Given the description of an element on the screen output the (x, y) to click on. 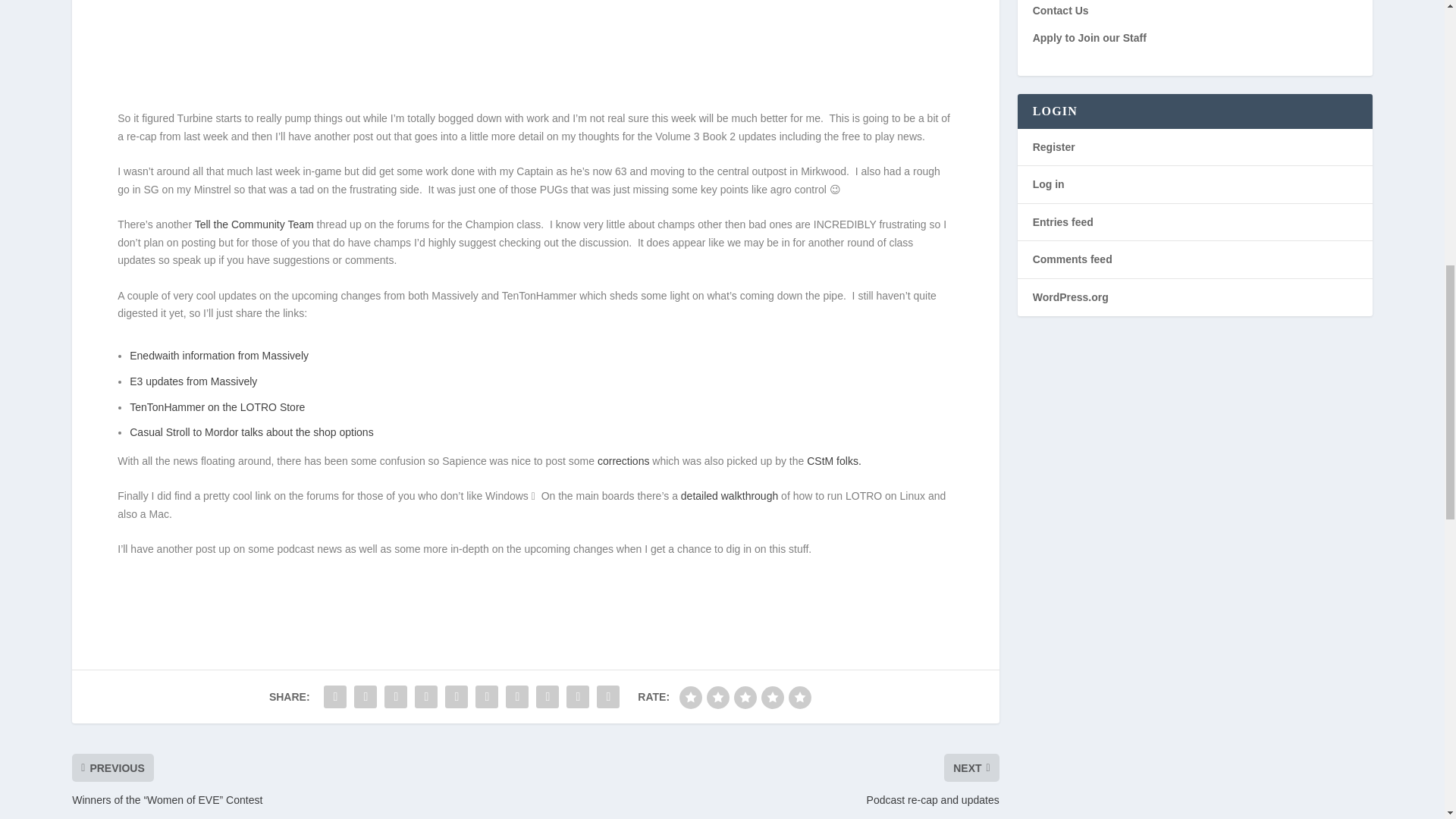
Share "Whole lotta news last week" via Facebook (335, 696)
Tell the Community Team (254, 224)
Share "Whole lotta news last week" via Twitter (365, 696)
Advertisement (535, 52)
TenTonHammer on the LOTRO Store (216, 407)
CStM folks. (833, 460)
Share "Whole lotta news last week" via Pinterest (456, 696)
E3 updates from Massively (193, 381)
corrections (622, 460)
detailed walkthrough (729, 495)
Share "Whole lotta news last week" via Tumblr (425, 696)
Share "Whole lotta news last week" via LinkedIn (486, 696)
Casual Stroll to Mordor talks about the shop options (250, 431)
Share "Whole lotta news last week" via Buffer (517, 696)
Enedwaith information from Massively (218, 355)
